Given the description of an element on the screen output the (x, y) to click on. 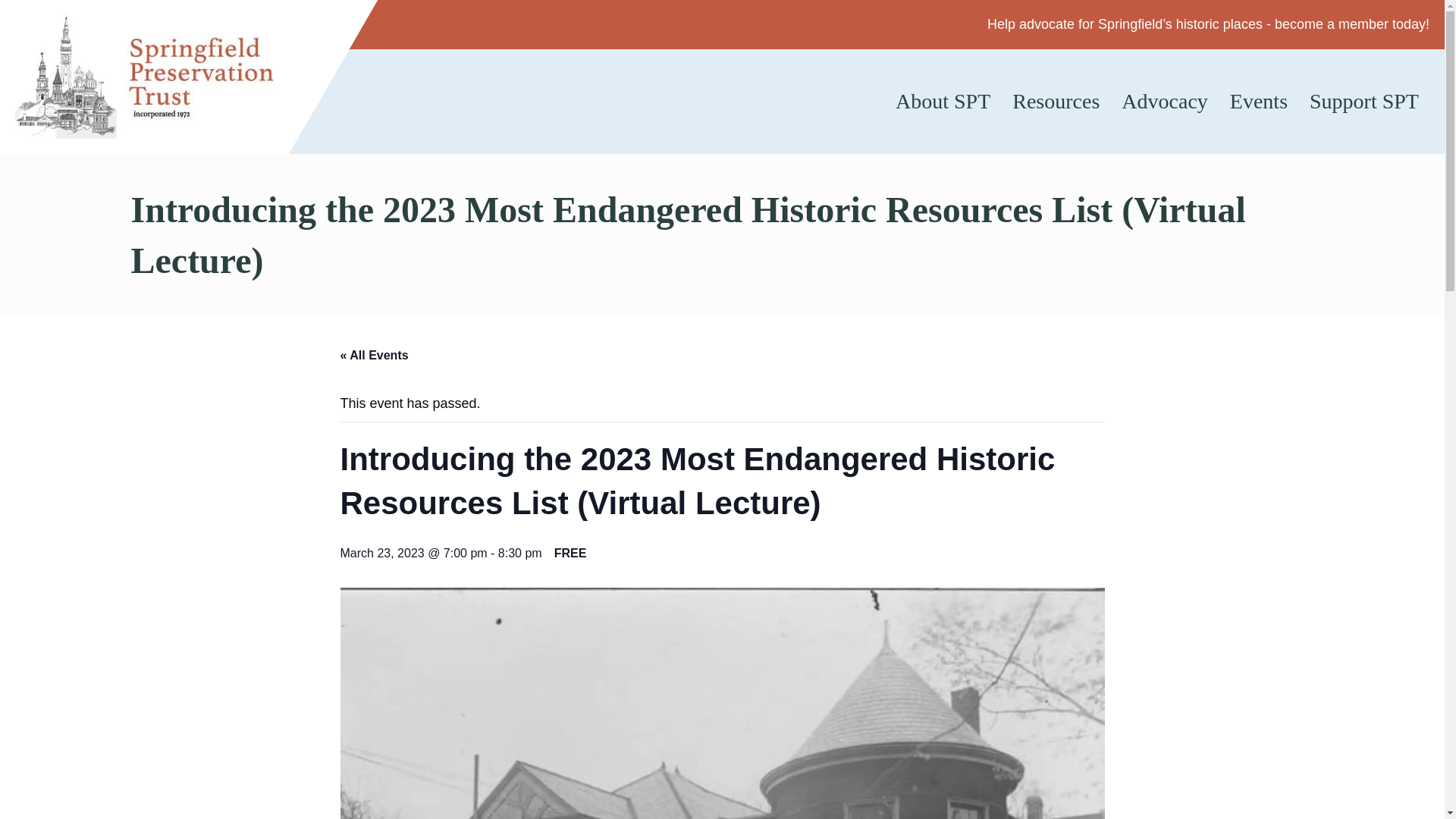
Advocacy (1164, 101)
Events (1259, 101)
Springfield Preservation Trust (143, 76)
About SPT (943, 101)
Resources (1055, 101)
Support SPT (1363, 101)
